Given the description of an element on the screen output the (x, y) to click on. 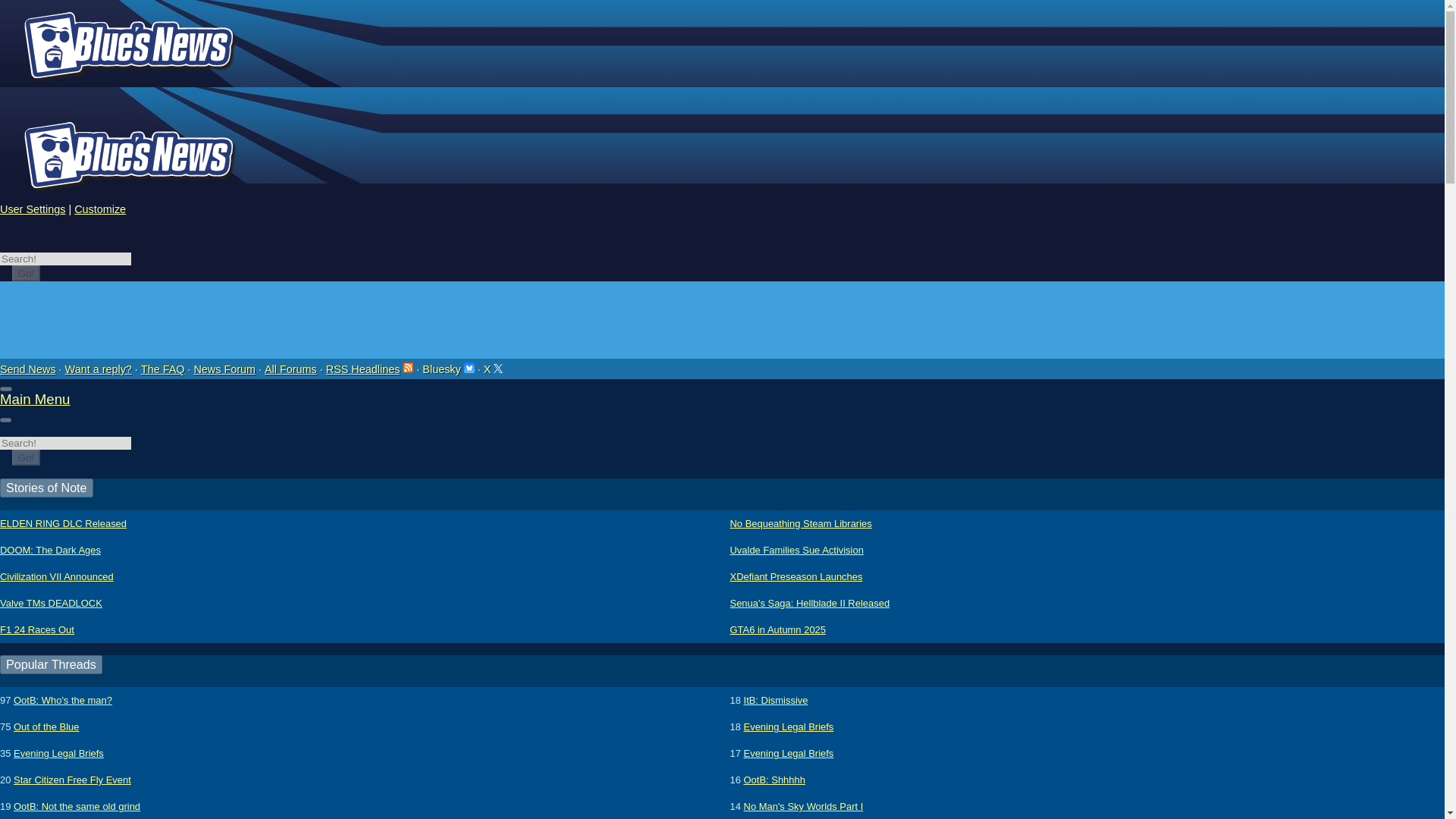
Go! (25, 457)
Popular Threads (50, 664)
Bluesky (469, 367)
The FAQ (162, 369)
Civilization VII Announced (56, 576)
Go! (25, 273)
Evening Legal Briefs (58, 753)
Evening Legal Briefs (789, 753)
Valve TMs DEADLOCK (50, 602)
All Forums (290, 369)
Send News (28, 369)
Go! (25, 273)
XDefiant Preseason Launches (795, 576)
OotB: Who's the man? (62, 700)
News Forum (224, 369)
